Given the description of an element on the screen output the (x, y) to click on. 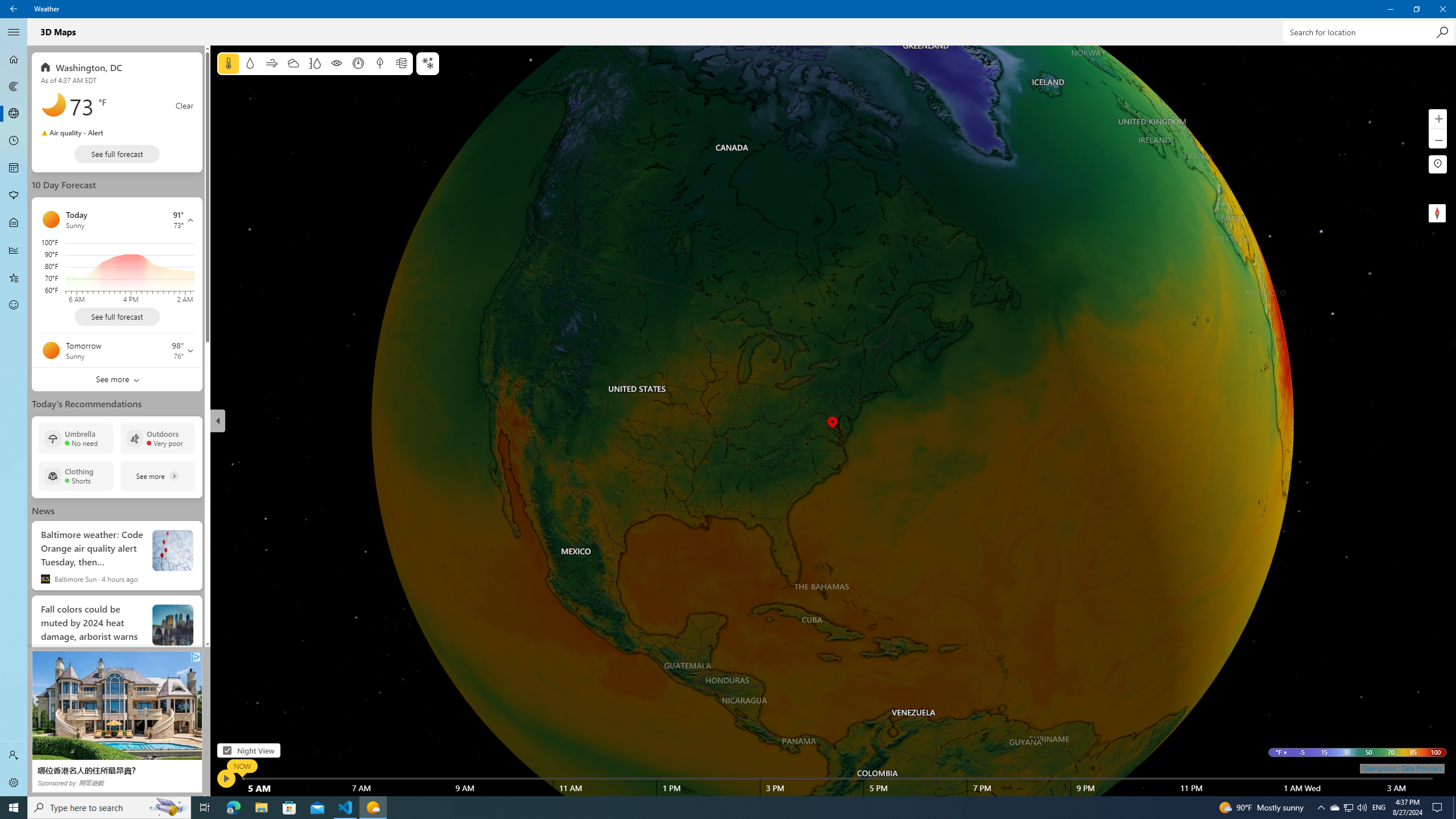
Sign in (13, 755)
3D Maps - Not Selected (13, 113)
Favorites - Not Selected (13, 277)
Close Weather (1442, 9)
Monthly Forecast - Not Selected (13, 167)
Favorites - Not Selected (13, 277)
Minimize Weather (1390, 9)
Historical Weather - Not Selected (13, 249)
Hourly Forecast - Not Selected (13, 140)
Forecast - Not Selected (13, 58)
